Given the description of an element on the screen output the (x, y) to click on. 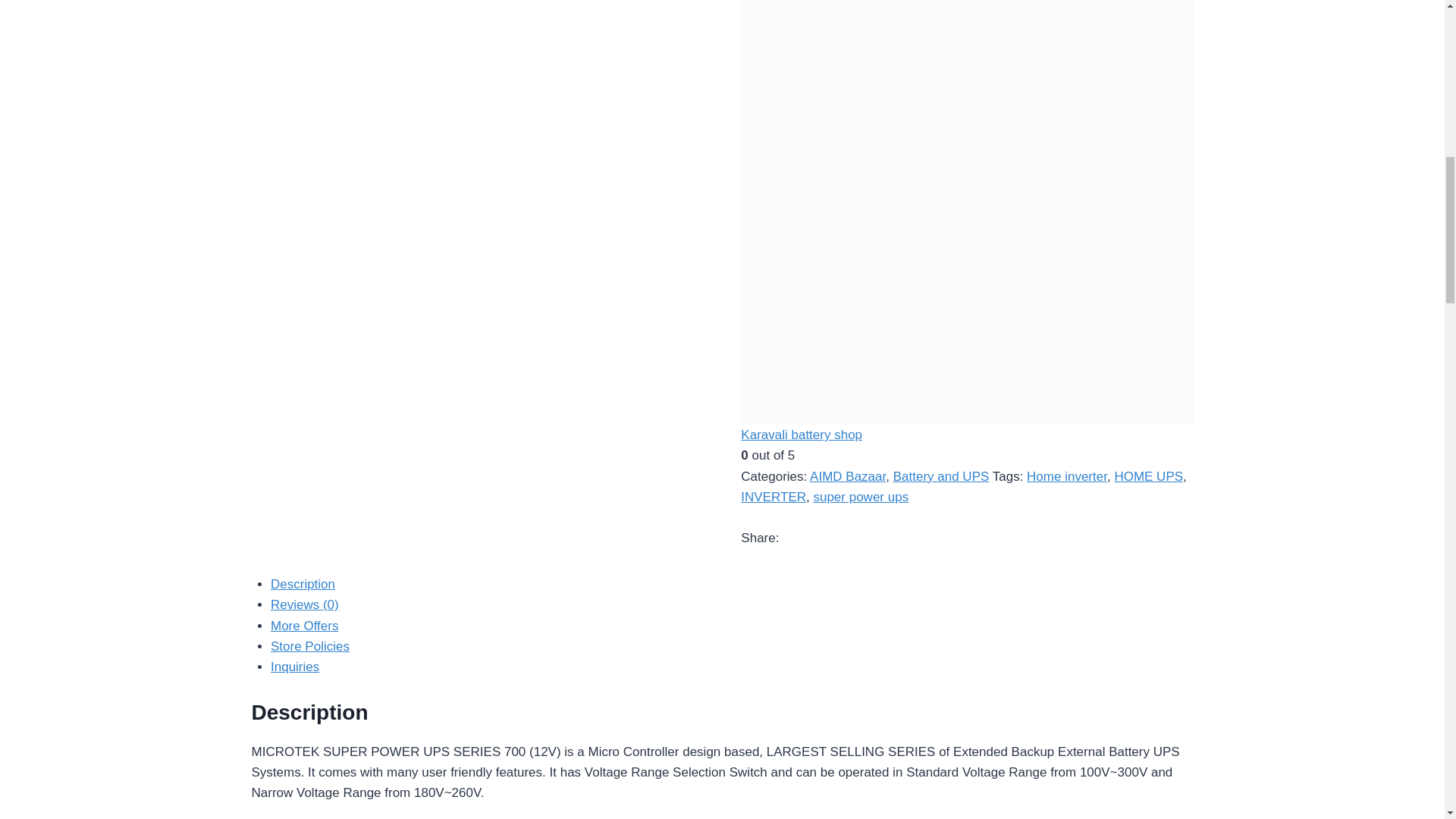
Karavali battery shop (801, 434)
AIMD Bazaar (847, 475)
HOME UPS (1147, 475)
Home inverter (1066, 475)
No reviews yet! (966, 455)
Battery and UPS (941, 475)
